Given the description of an element on the screen output the (x, y) to click on. 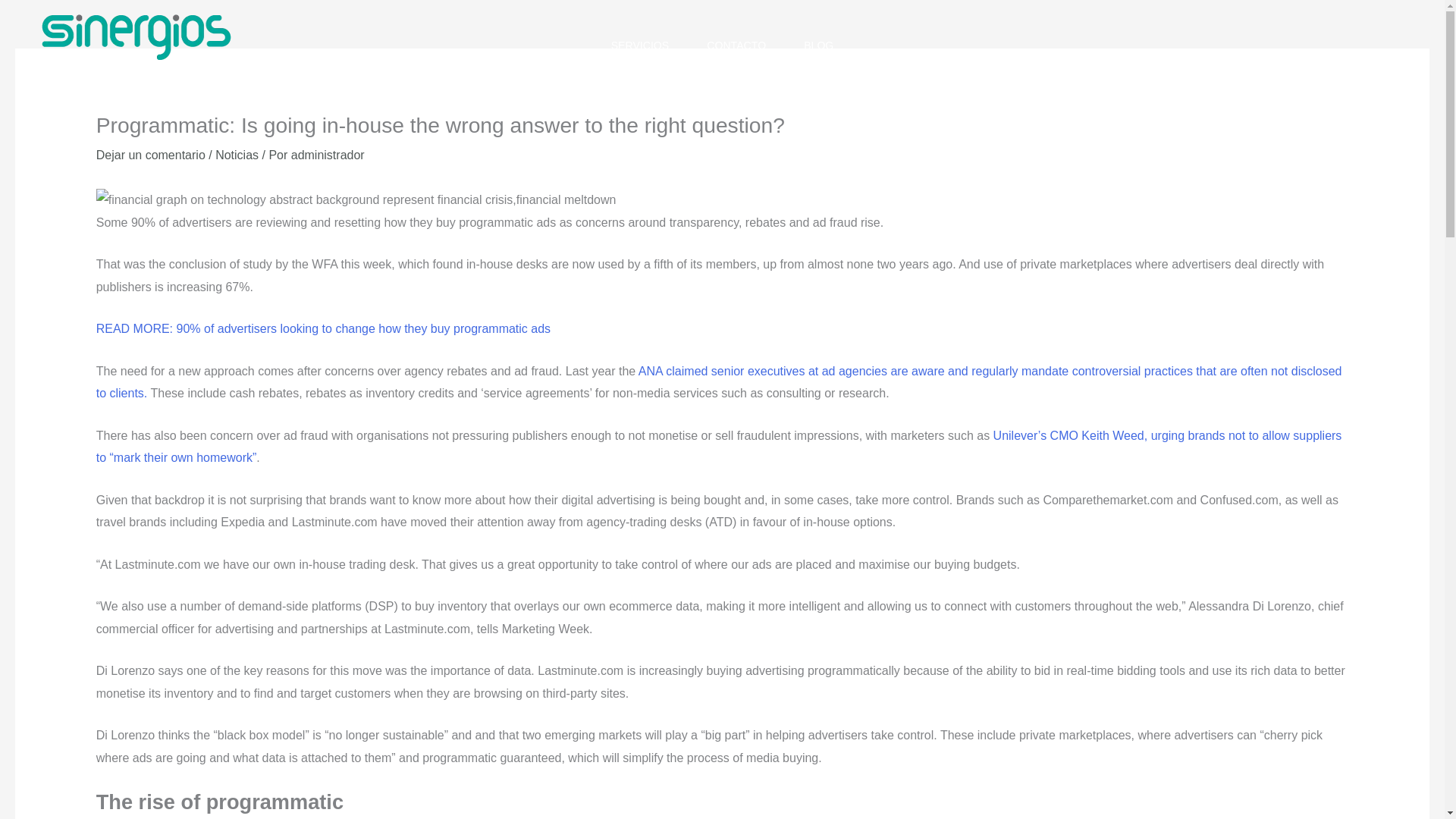
SERVICIOS (640, 45)
CONTACTO (735, 45)
administrador (328, 154)
Ver todas las entradas de administrador (328, 154)
Dejar un comentario (150, 154)
Noticias (237, 154)
